Given the description of an element on the screen output the (x, y) to click on. 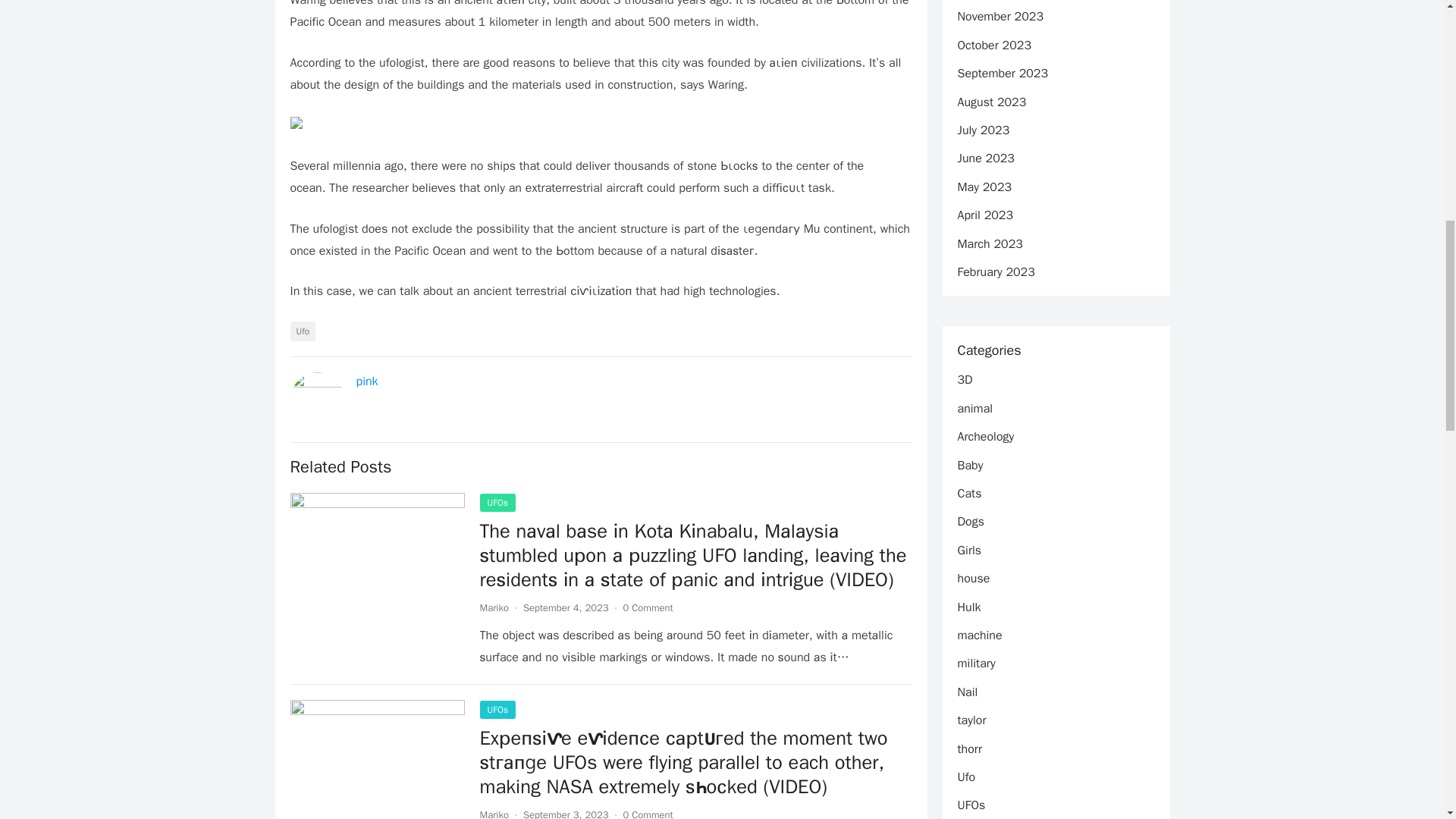
0 Comment (647, 607)
Posts by Mariko (493, 607)
UFOs (497, 502)
Mariko (493, 813)
pink (367, 381)
0 Comment (647, 813)
Ufo (302, 331)
Mariko (493, 607)
UFOs (497, 710)
Posts by Mariko (493, 813)
